Given the description of an element on the screen output the (x, y) to click on. 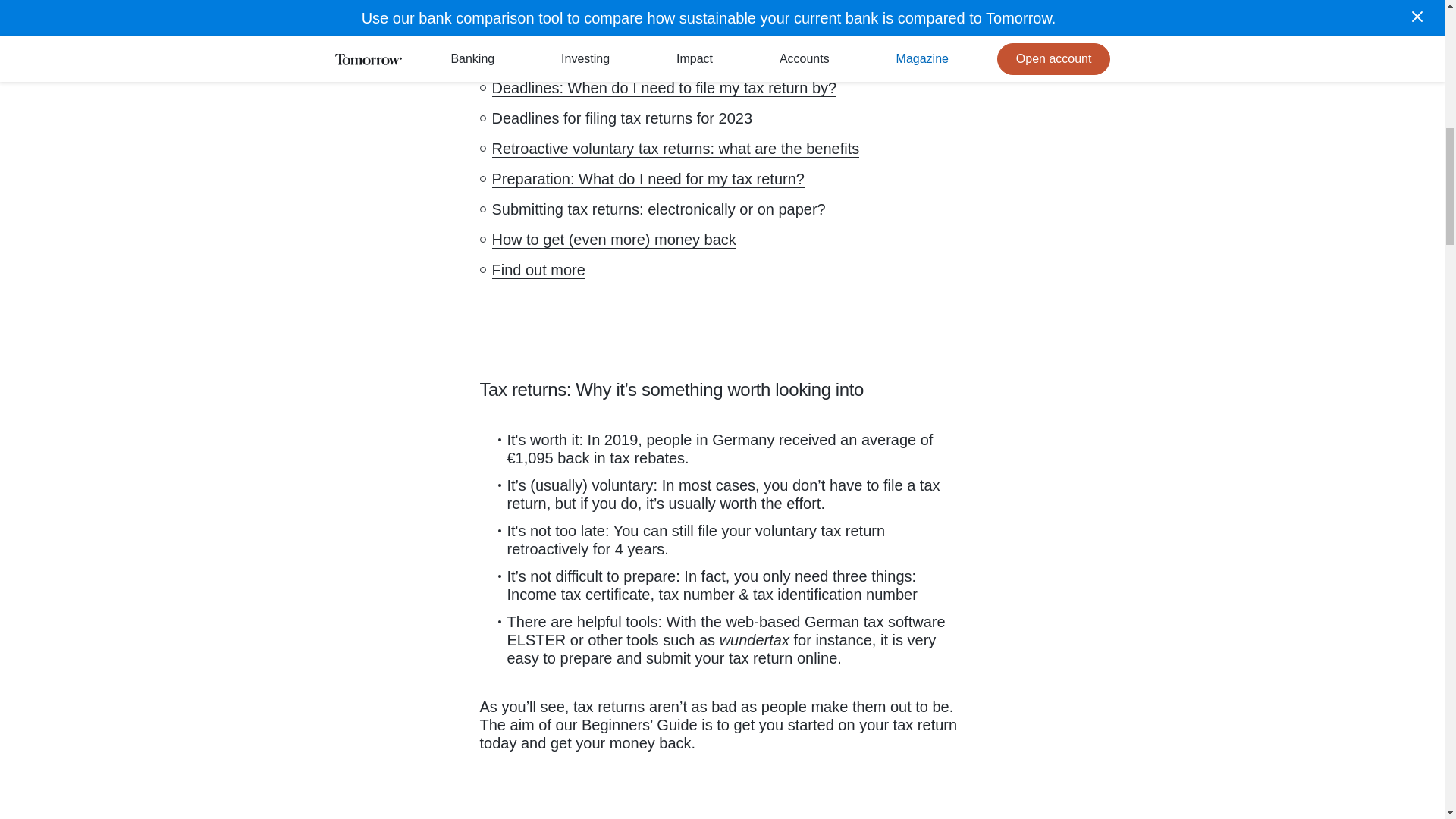
Who has to file a tax return? And who can if they want to? (684, 57)
Deadlines: When do I need to file my tax return by? (663, 88)
Find out more (538, 270)
Deadlines for filing tax returns for 2023 (622, 118)
Retroactive voluntary tax returns: what are the benefits (675, 149)
Submitting tax returns: electronically or on paper? (658, 209)
Preparation: What do I need for my tax return? (647, 179)
